Given the description of an element on the screen output the (x, y) to click on. 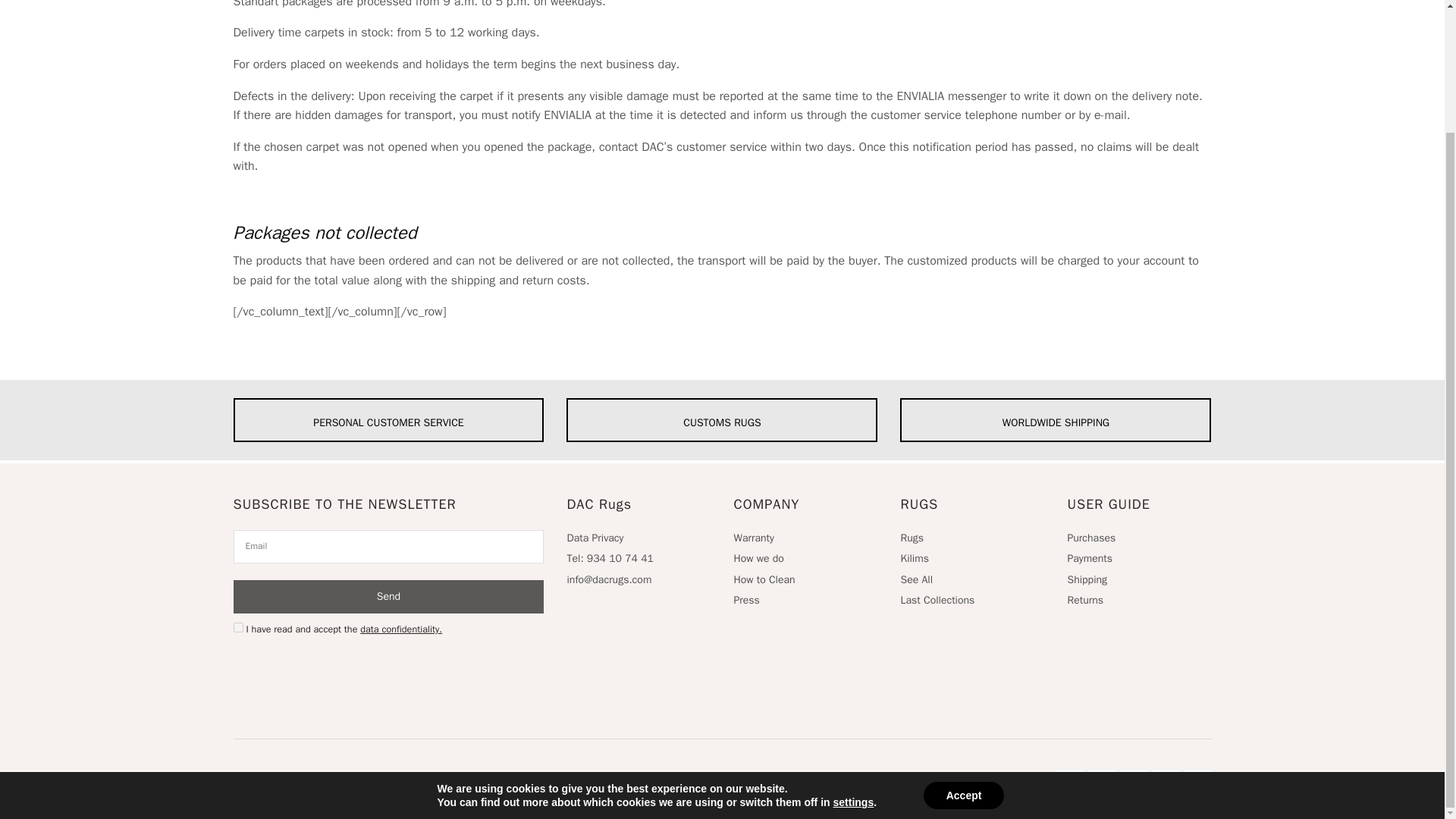
WORLDWIDE SHIPPING (1055, 420)
Warranty (753, 537)
Payments (1089, 558)
data confidentiality. (400, 629)
Accept (963, 647)
Press (745, 599)
CUSTOMS RUGS (721, 420)
How we do (758, 558)
Returns (1085, 599)
Rugs (911, 537)
1 (237, 627)
settings (853, 654)
PERSONAL CUSTOMER SERVICE (388, 420)
Send (388, 596)
Data Privacy (594, 537)
